Given the description of an element on the screen output the (x, y) to click on. 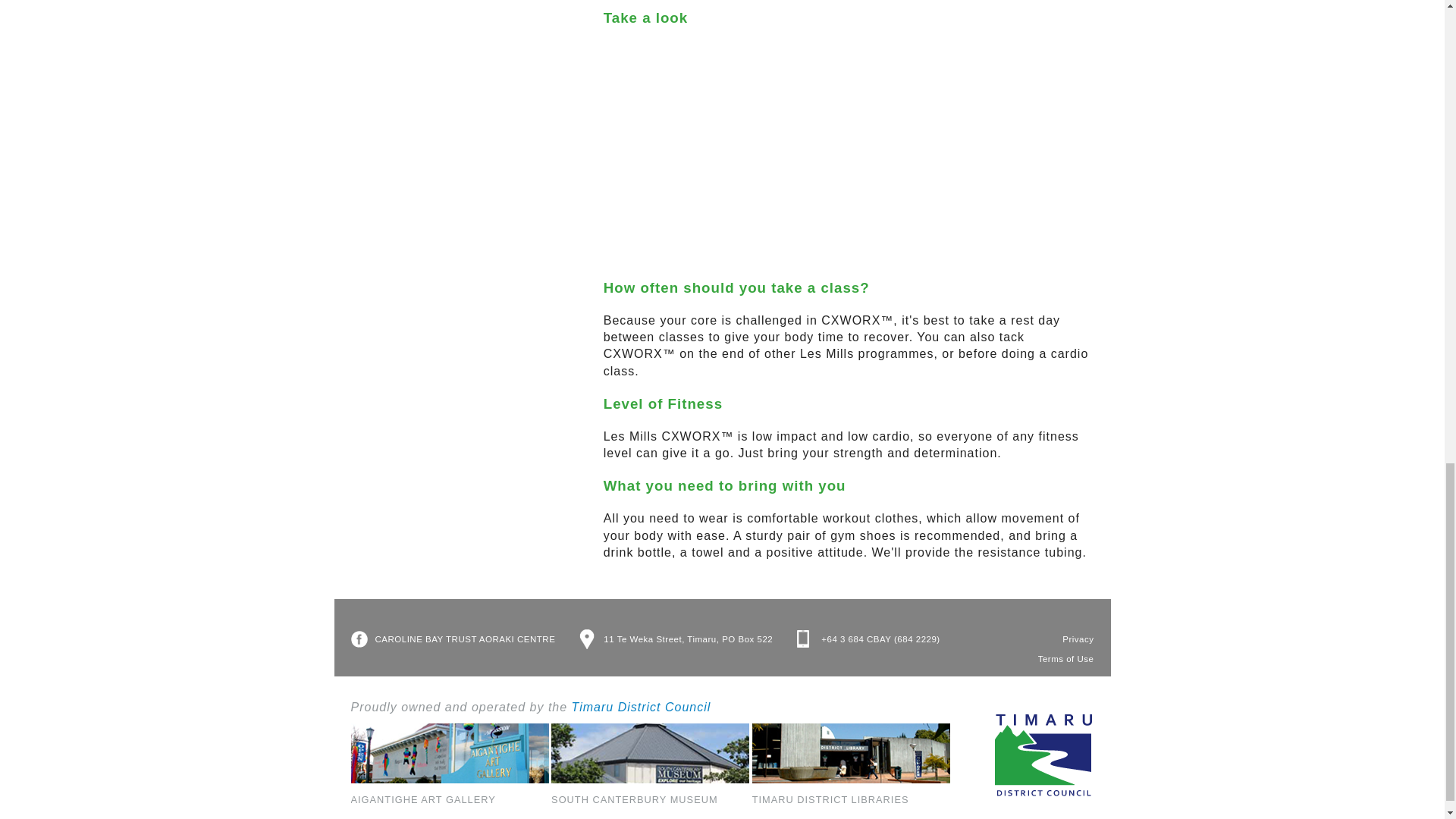
Terms of Use (1066, 658)
Privacy (1077, 638)
